Given the description of an element on the screen output the (x, y) to click on. 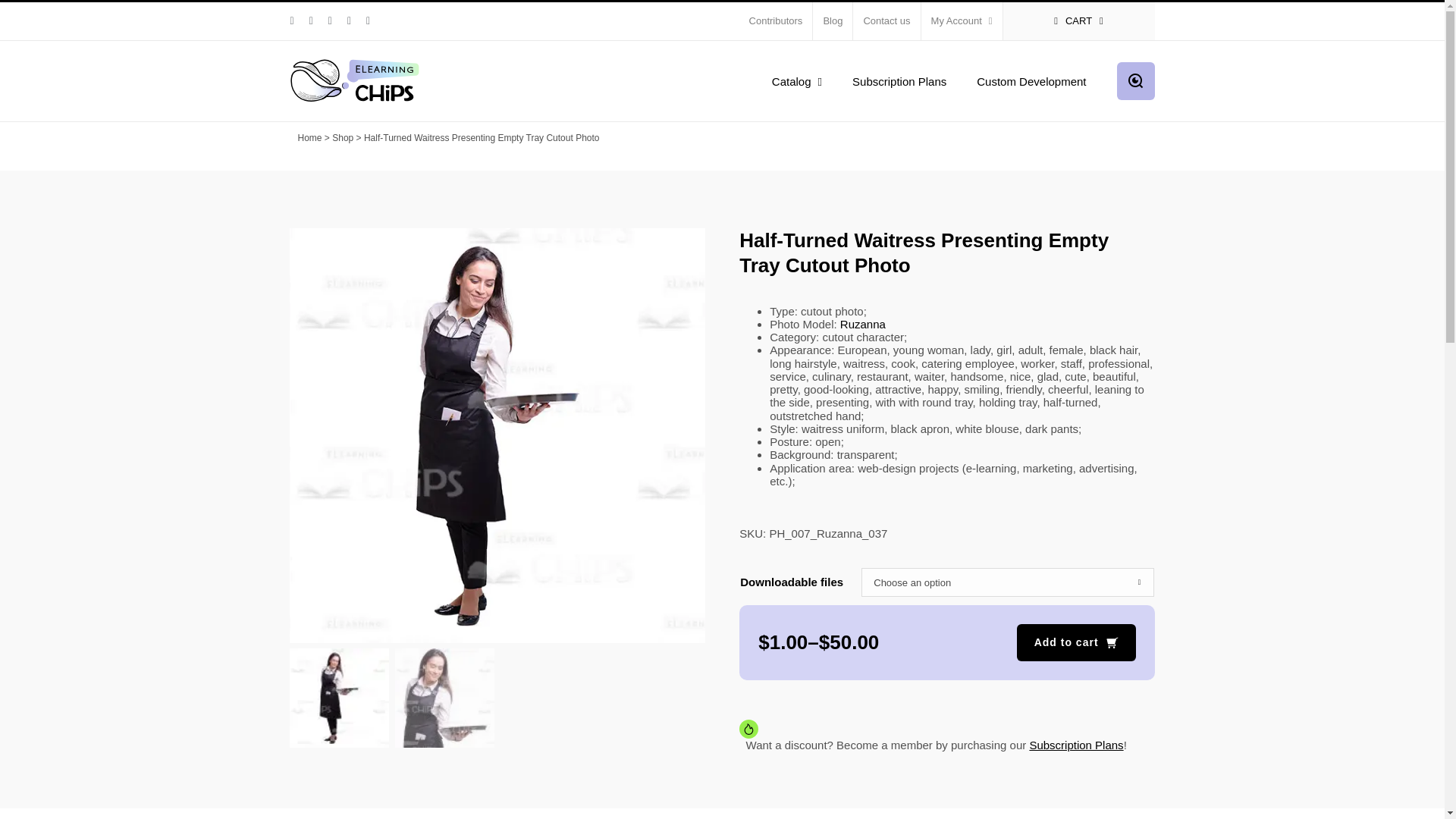
Blog (831, 21)
Catalog (796, 79)
Log In (1025, 165)
Contact us (886, 21)
LinkedIn (291, 20)
Facebook (310, 20)
Subscription Plans (898, 79)
My Account (962, 21)
Contributors (775, 21)
RollOver (144, 435)
Custom Development (1031, 79)
Search (1135, 80)
